Given the description of an element on the screen output the (x, y) to click on. 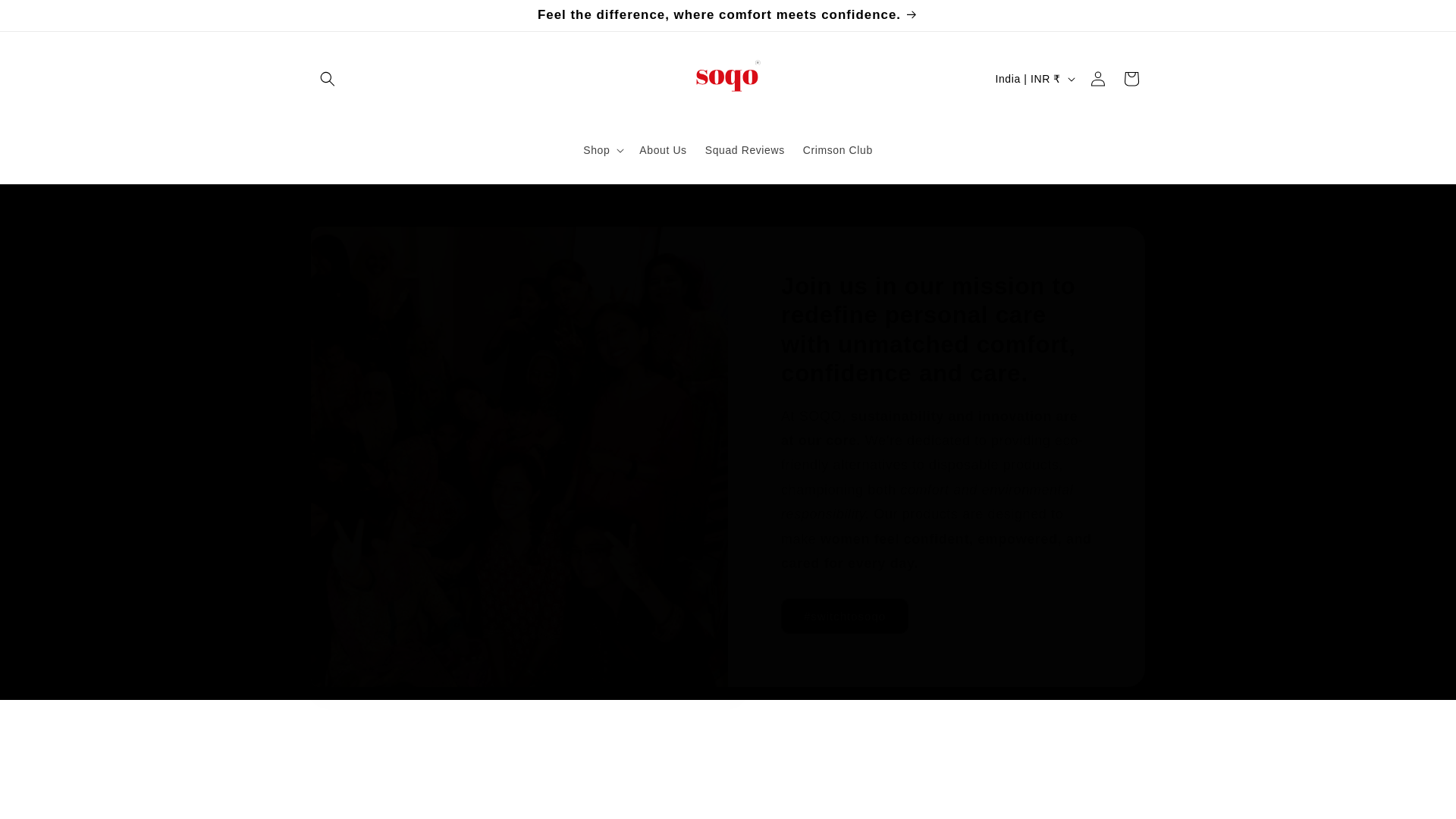
Cart (1131, 78)
Squad Reviews (744, 150)
About Us (662, 150)
Crimson Club (837, 150)
Log in (1098, 78)
Feel the difference, where comfort meets confidence. (727, 15)
Skip to content (45, 17)
